Given the description of an element on the screen output the (x, y) to click on. 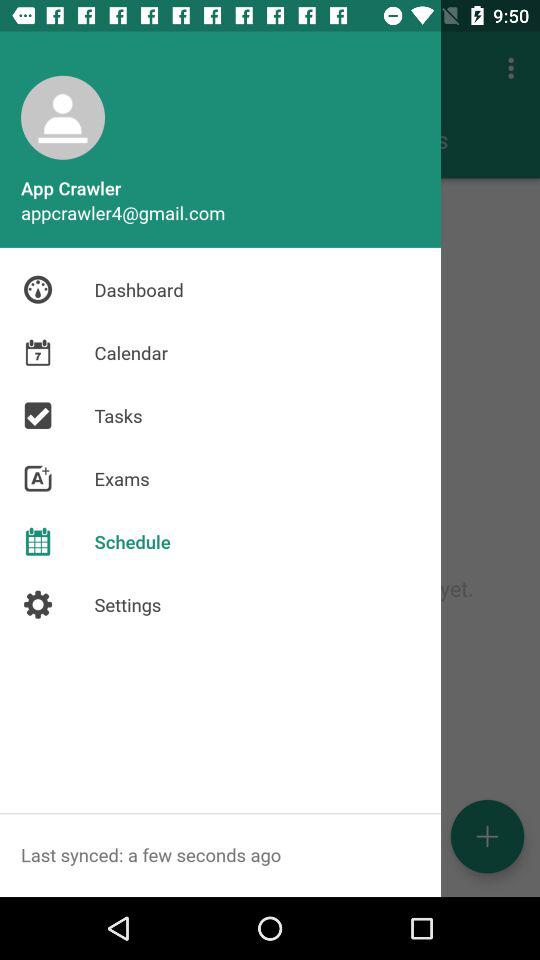
click on the icon app crawler (62, 117)
select 3 dots (514, 68)
